Given the description of an element on the screen output the (x, y) to click on. 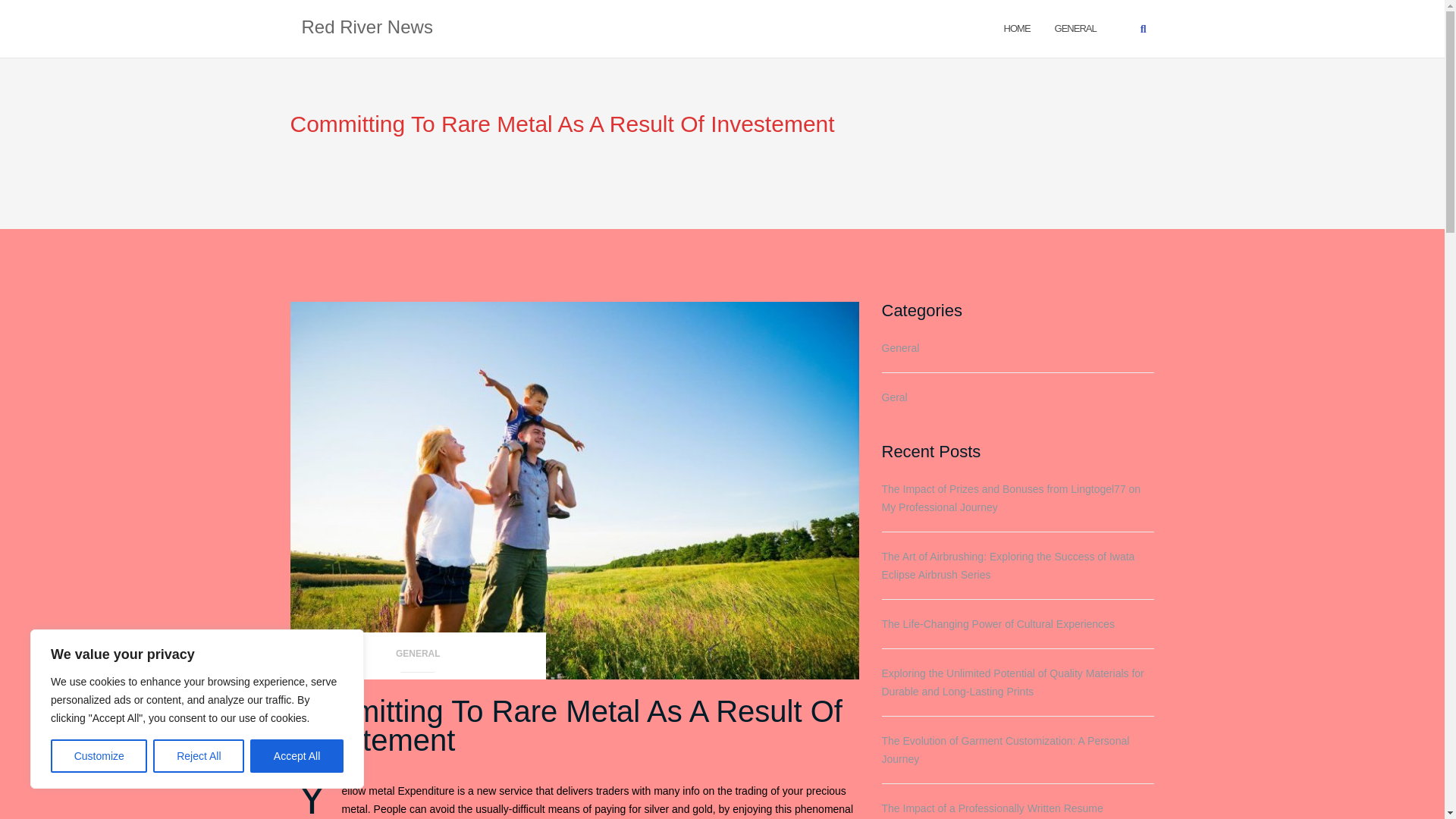
Committing To Rare Metal As A Result Of Investement (565, 725)
Accept All (296, 756)
GENERAL (1075, 28)
Reject All (198, 756)
General (1075, 28)
GENERAL (417, 658)
Customize (98, 756)
Red River News (366, 28)
